Given the description of an element on the screen output the (x, y) to click on. 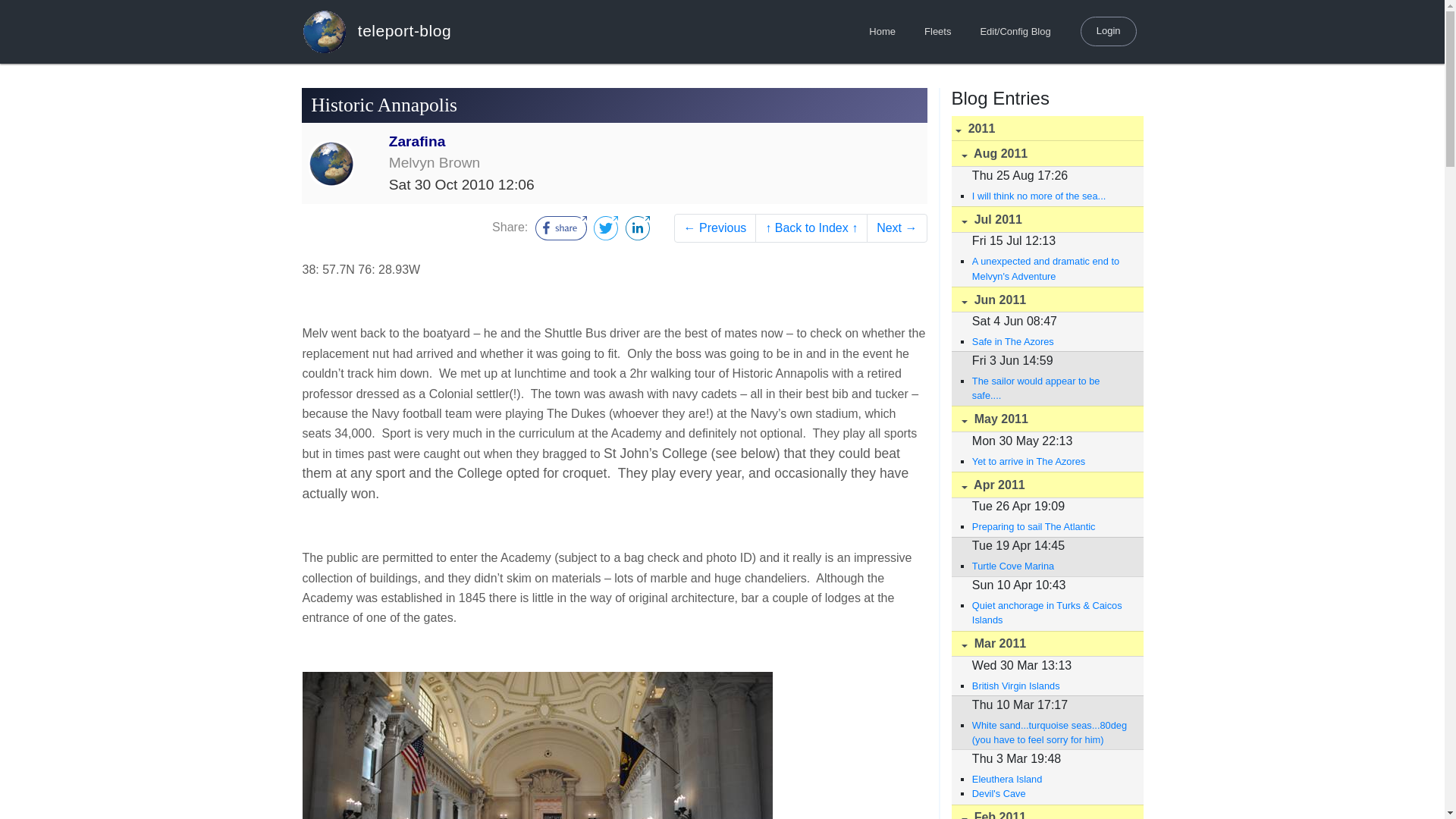
Safe in The Azores (1050, 341)
Eleuthera Island (1050, 779)
Jul 2011 (1046, 219)
Jun 2011 (1046, 299)
teleport-blog (376, 31)
Turtle Cove Marina (1050, 565)
Devil's Cave (1050, 793)
I will think no more of the sea... (1050, 196)
Apr 2011 (1046, 484)
Feb 2011 (1046, 811)
Preparing to sail The Atlantic (1050, 526)
Mar 2011 (1046, 643)
Aug 2011 (1046, 153)
The sailor would appear to be safe.... (1050, 387)
Login (1108, 30)
